Given the description of an element on the screen output the (x, y) to click on. 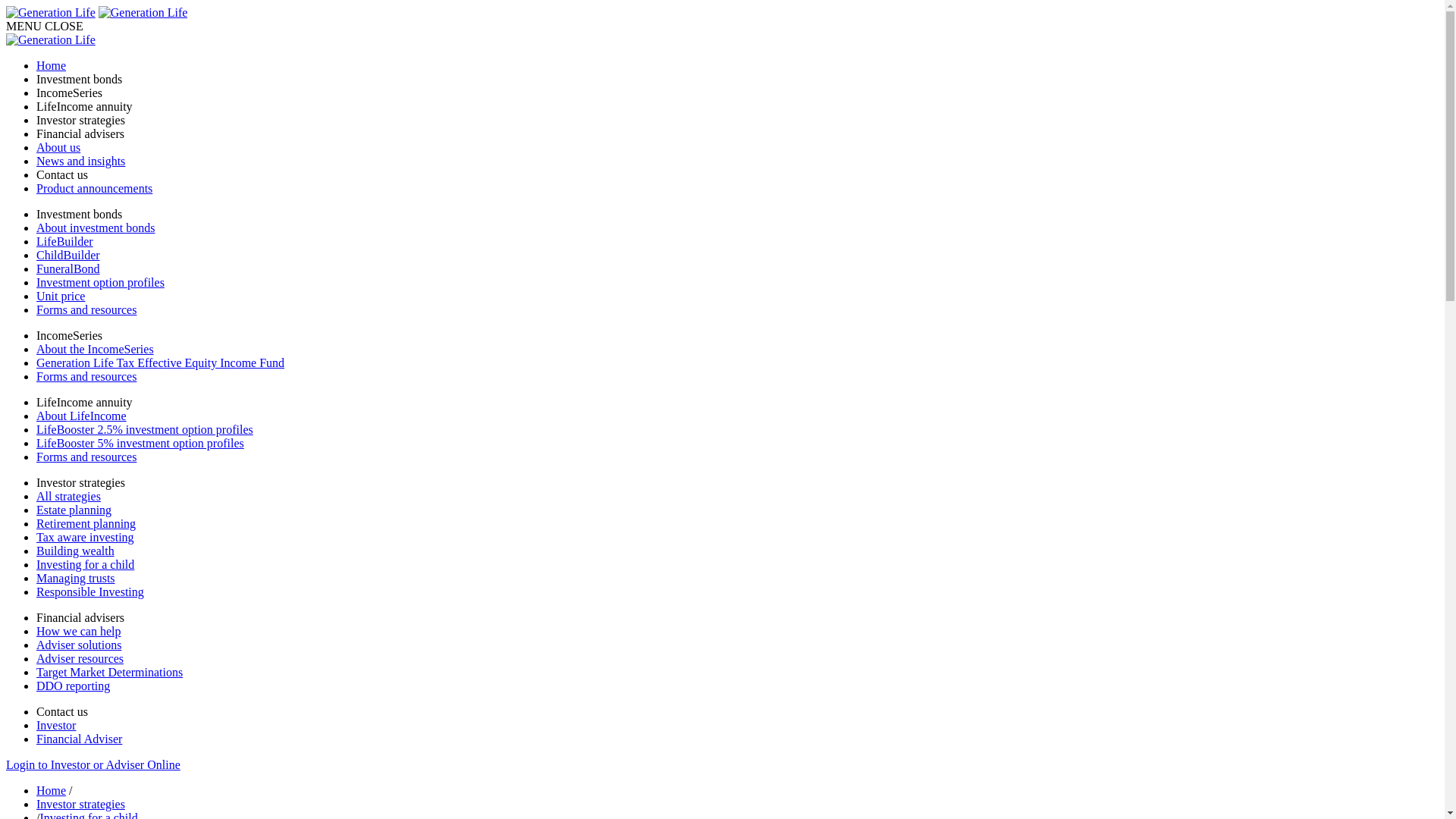
News and insights Element type: text (737, 161)
FuneralBond Element type: text (737, 269)
Unit price Element type: text (737, 296)
LifeBooster 2.5% investment option profiles Element type: text (737, 429)
Building wealth Element type: text (737, 551)
How we can help Element type: text (737, 631)
Contact us Element type: text (61, 711)
Generation Life Tax Effective Equity Income Fund Element type: text (737, 363)
About us Element type: text (737, 147)
Forms and resources Element type: text (737, 309)
About investment bonds Element type: text (737, 228)
Investment bonds Element type: text (79, 213)
Retirement planning Element type: text (737, 523)
IncomeSeries Element type: text (69, 335)
Tax aware investing Element type: text (737, 537)
Investment option profiles Element type: text (737, 282)
Investor strategies Element type: text (737, 120)
Responsible Investing Element type: text (737, 592)
Target Market Determinations Element type: text (737, 672)
Login to Investor or Adviser Online Element type: text (93, 764)
DDO reporting Element type: text (737, 686)
Adviser resources Element type: text (737, 658)
IncomeSeries Element type: text (737, 93)
Managing trusts Element type: text (737, 578)
Home Element type: text (737, 65)
LifeIncome annuity Element type: text (737, 106)
Investing for a child Element type: text (737, 564)
Contact us Element type: text (737, 175)
Financial Adviser Element type: text (737, 739)
Financial advisers Element type: text (80, 617)
Investment bonds Element type: text (737, 79)
Home Element type: text (50, 790)
LifeBooster 5% investment option profiles Element type: text (737, 443)
All strategies Element type: text (737, 496)
Financial advisers Element type: text (737, 134)
LifeBuilder Element type: text (737, 241)
About LifeIncome Element type: text (737, 416)
Investor Element type: text (737, 725)
Forms and resources Element type: text (737, 376)
Forms and resources Element type: text (737, 457)
Investor strategies Element type: text (80, 482)
Investor strategies Element type: text (80, 803)
Adviser solutions Element type: text (737, 645)
ChildBuilder Element type: text (737, 255)
Estate planning Element type: text (737, 510)
About the IncomeSeries Element type: text (737, 349)
Product announcements Element type: text (737, 188)
LifeIncome annuity Element type: text (84, 401)
